Given the description of an element on the screen output the (x, y) to click on. 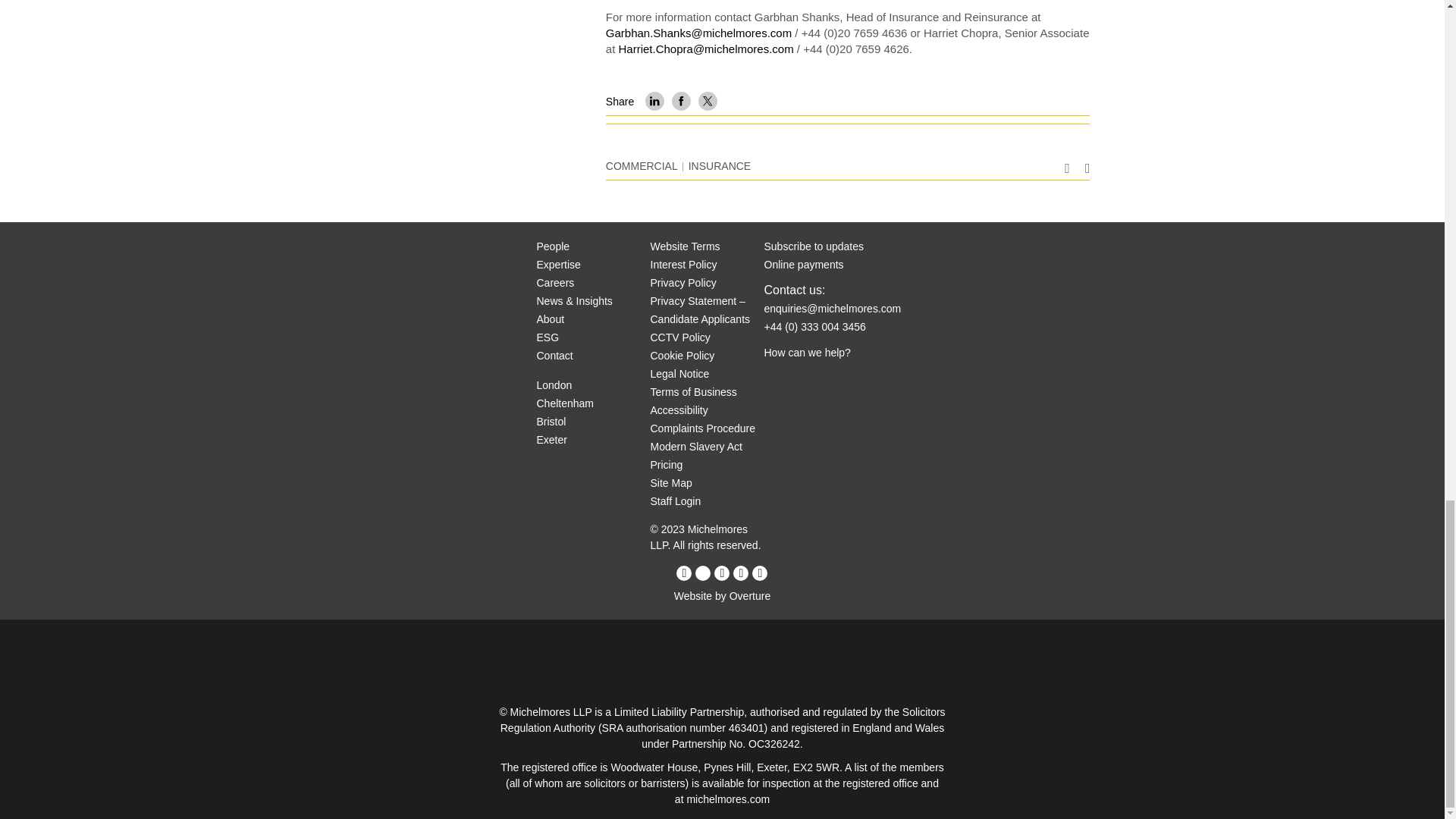
People (553, 246)
Bristol (551, 421)
CCTV Policy (680, 337)
INSURANCE (719, 165)
London (554, 385)
ESG (548, 337)
Exeter (552, 439)
Website Terms (685, 246)
COMMERCIAL (641, 165)
Cheltenham (565, 403)
